Given the description of an element on the screen output the (x, y) to click on. 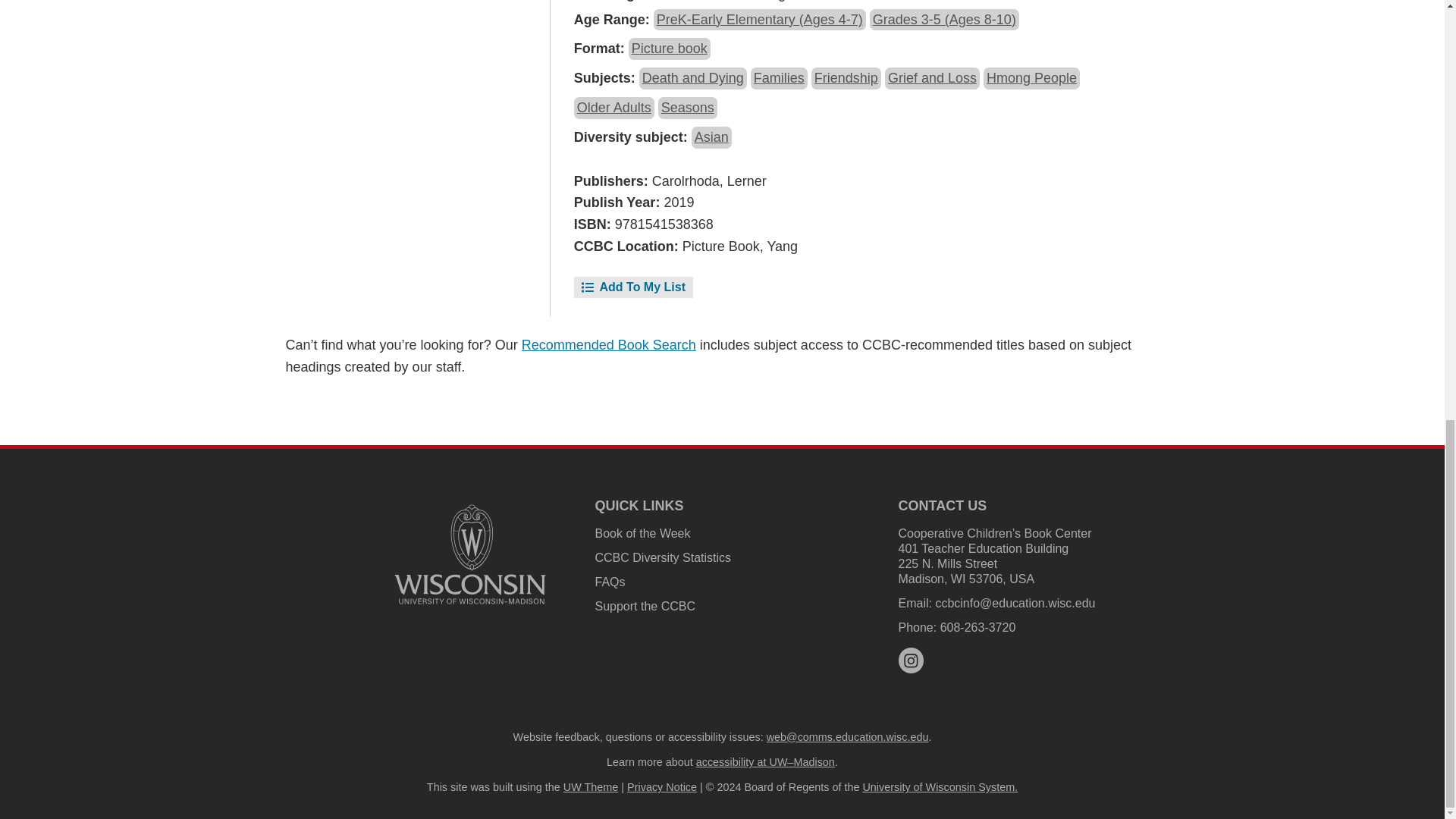
University logo that links to main university website (470, 553)
instagram (910, 660)
